Given the description of an element on the screen output the (x, y) to click on. 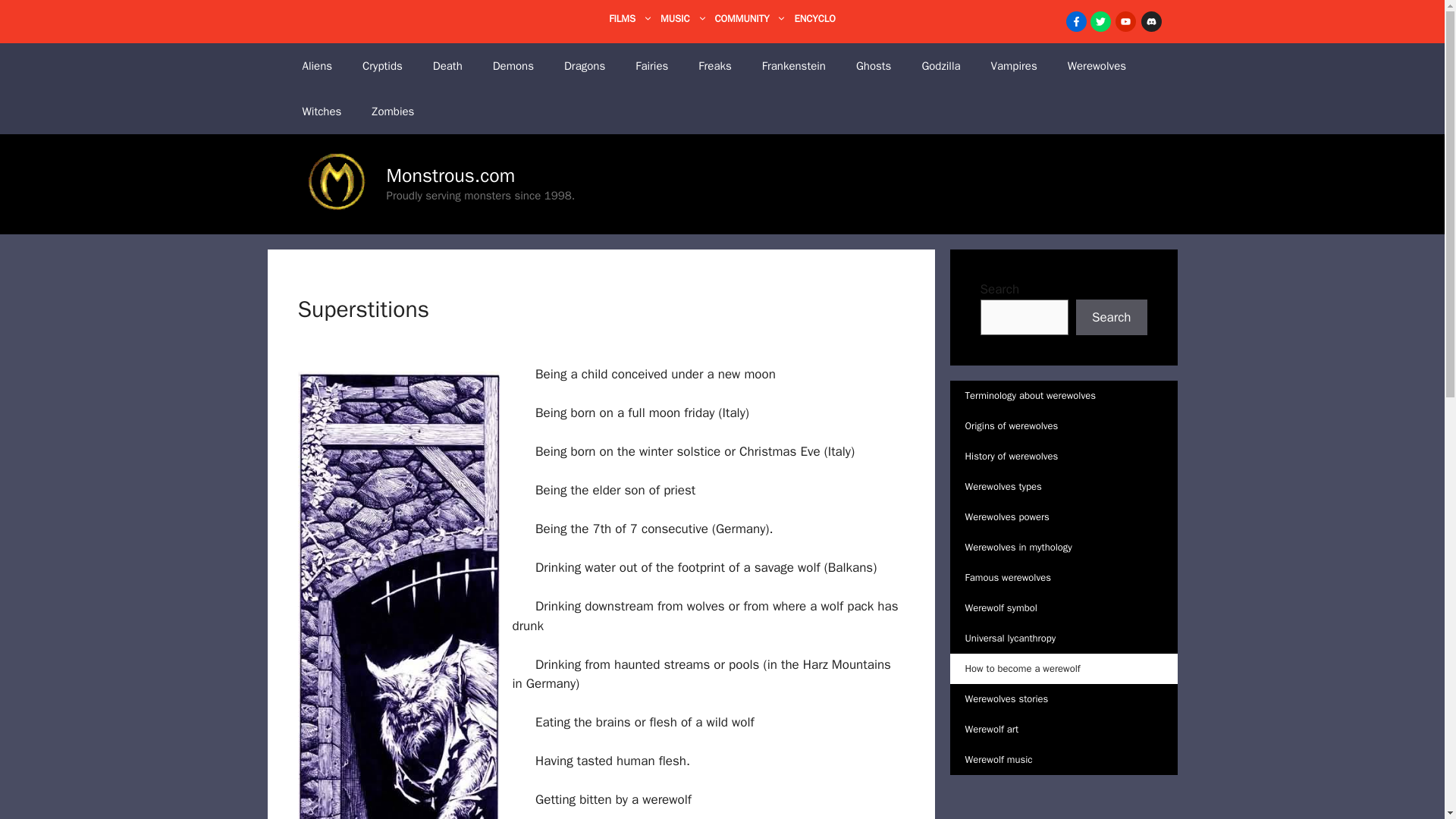
Zombies (392, 110)
Demons (512, 64)
Godzilla (940, 64)
Freaks (713, 64)
FILMS (634, 18)
Cryptids (382, 64)
Ghosts (873, 64)
COMMUNITY (753, 18)
Vampires (1013, 64)
Werewolves (1096, 64)
Dragons (584, 64)
Death (447, 64)
Advertisement (1062, 804)
Monstrous.com (451, 175)
ENCYCLO (813, 18)
